Given the description of an element on the screen output the (x, y) to click on. 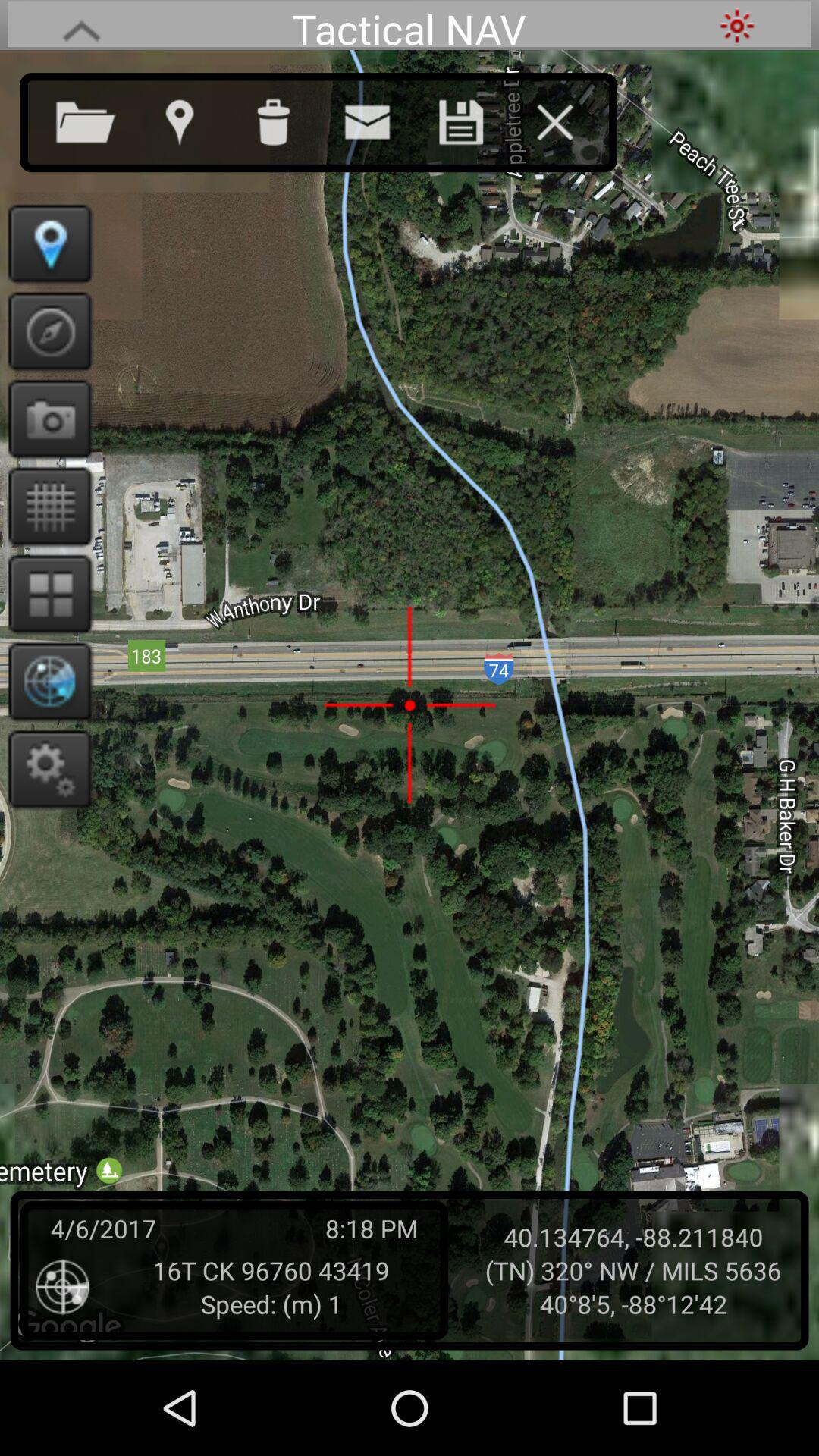
edit settings (45, 768)
